Given the description of an element on the screen output the (x, y) to click on. 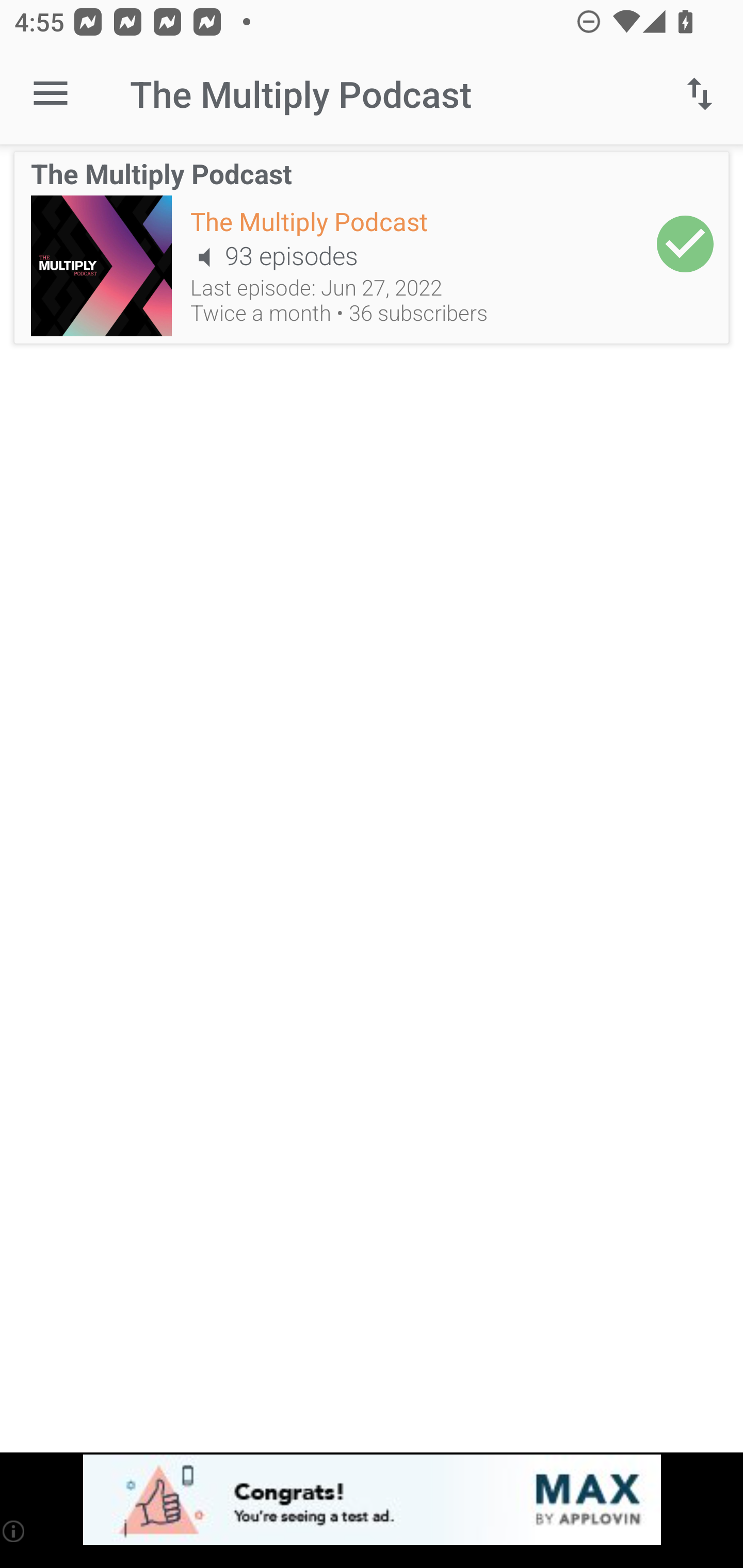
Open navigation sidebar (50, 93)
Sort (699, 93)
Add (684, 243)
app-monetization (371, 1500)
(i) (14, 1531)
